Given the description of an element on the screen output the (x, y) to click on. 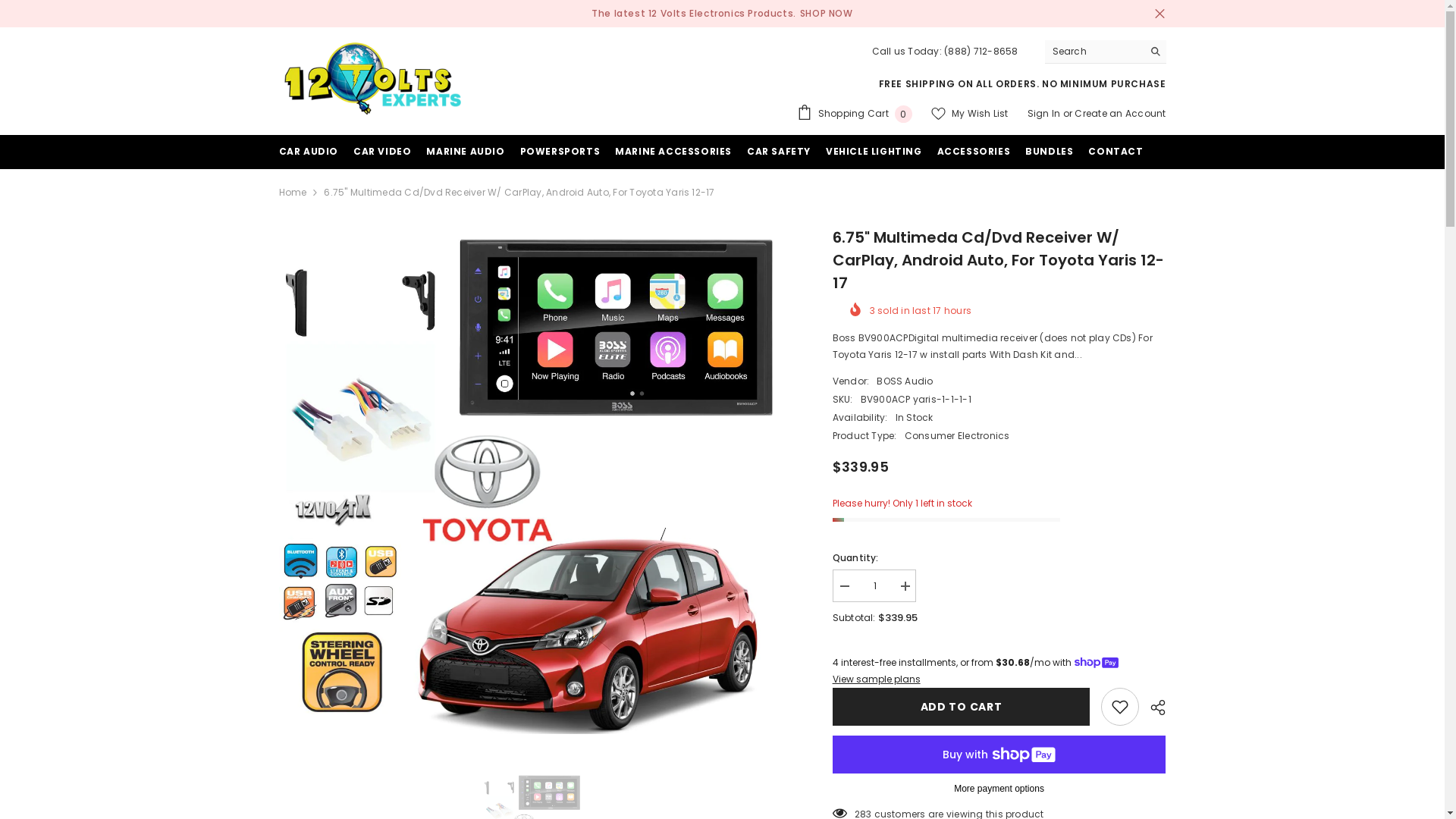
VEHICLE LIGHTING Element type: text (873, 156)
Close Element type: text (1158, 13)
SHOP NOW Element type: text (826, 13)
CONTACT Element type: text (1115, 156)
Sign In Element type: text (1043, 112)
Add to wishlist Element type: text (1120, 706)
ADD TO CART Element type: text (961, 706)
POWERSPORTS Element type: text (560, 156)
BUNDLES Element type: text (1048, 156)
My Wish List Element type: text (969, 113)
Shopping Cart 0
0 items Element type: text (854, 113)
MARINE ACCESSORIES Element type: text (673, 156)
BOSS Audio Element type: text (904, 380)
Home Element type: text (293, 192)
CAR SAFETY Element type: text (778, 156)
MARINE AUDIO Element type: text (464, 156)
More payment options Element type: text (999, 788)
CAR VIDEO Element type: text (381, 156)
ACCESSORIES Element type: text (973, 156)
SHARE Element type: text (1152, 707)
CAR AUDIO Element type: text (308, 156)
Create an Account Element type: text (1119, 112)
